Given the description of an element on the screen output the (x, y) to click on. 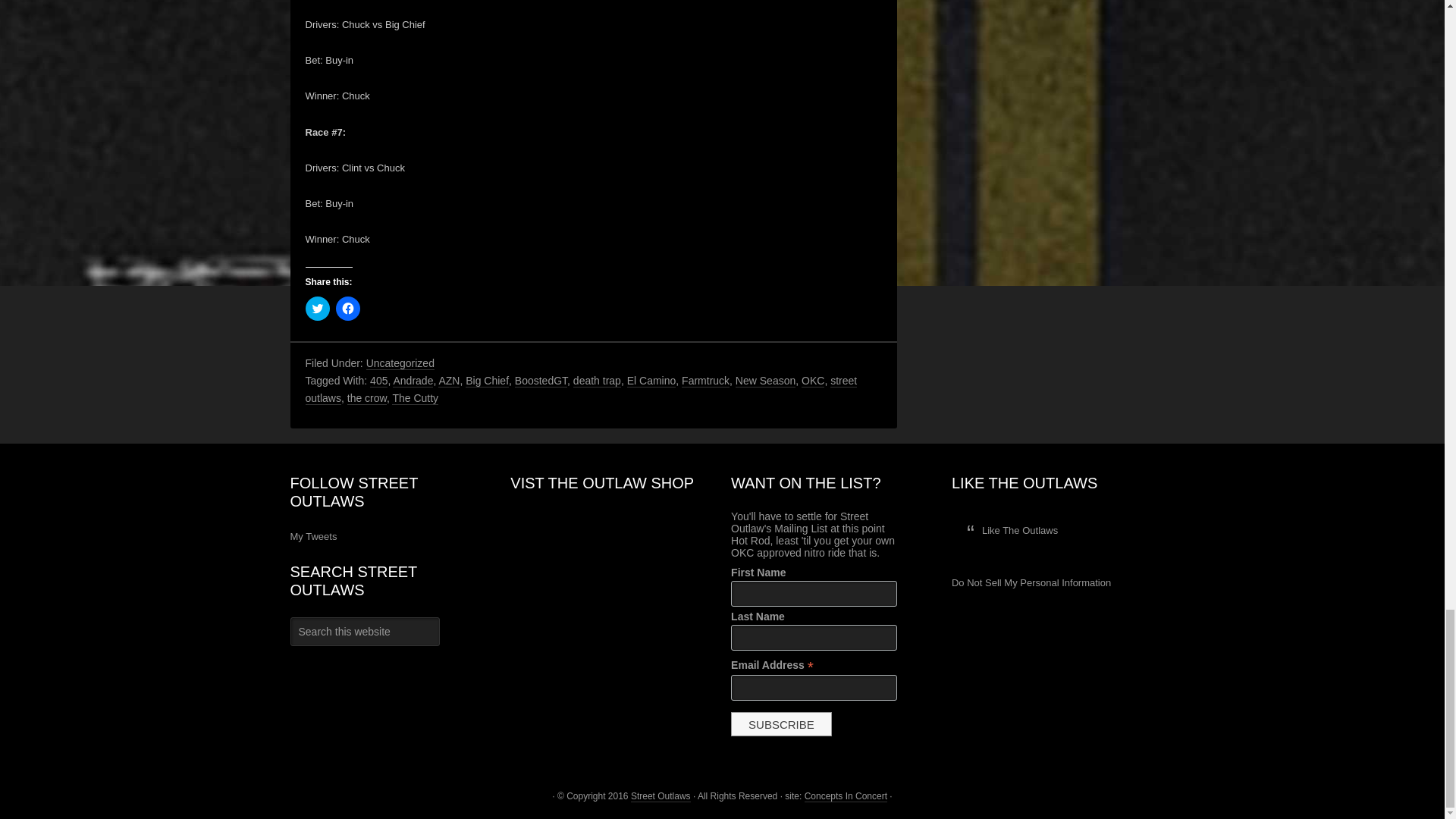
OKC (813, 380)
The Cutty (414, 398)
405 (378, 380)
AZN (449, 380)
Subscribe (780, 723)
Andrade (412, 380)
Big Chief (486, 380)
Click to share on Facebook (346, 308)
Farmtruck (705, 380)
New Season (764, 380)
El Camino (652, 380)
the crow (367, 398)
death trap (597, 380)
